Given the description of an element on the screen output the (x, y) to click on. 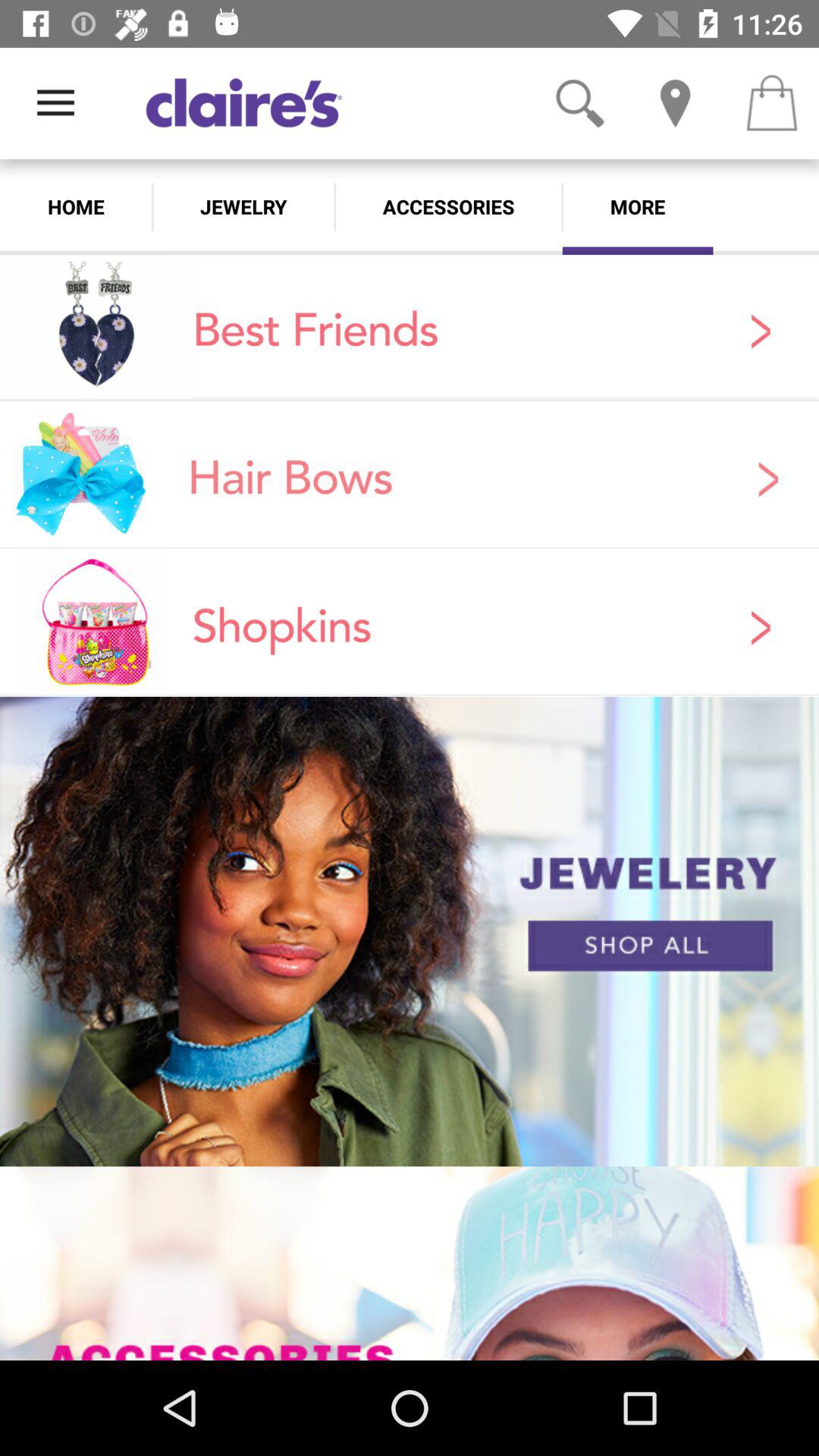
swipe until the more app (637, 206)
